Given the description of an element on the screen output the (x, y) to click on. 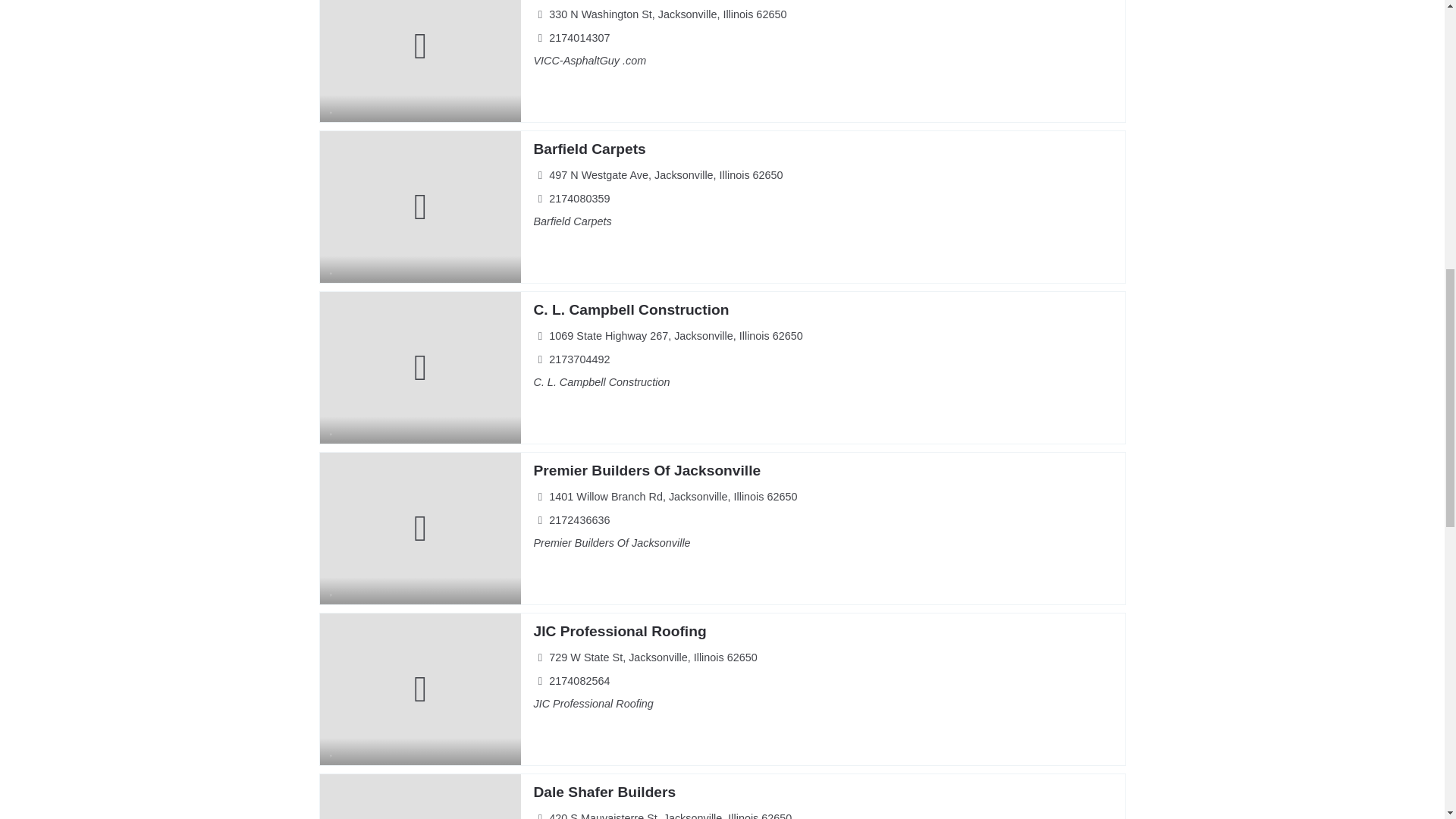
Barfield Carpets (588, 148)
Dale Shafer Builders (603, 791)
Barfield Carpets (588, 148)
C. L. Campbell Construction (630, 309)
C. L. Campbell Construction (630, 309)
Premier Builders Of Jacksonville (646, 470)
JIC Professional Roofing (619, 631)
